Given the description of an element on the screen output the (x, y) to click on. 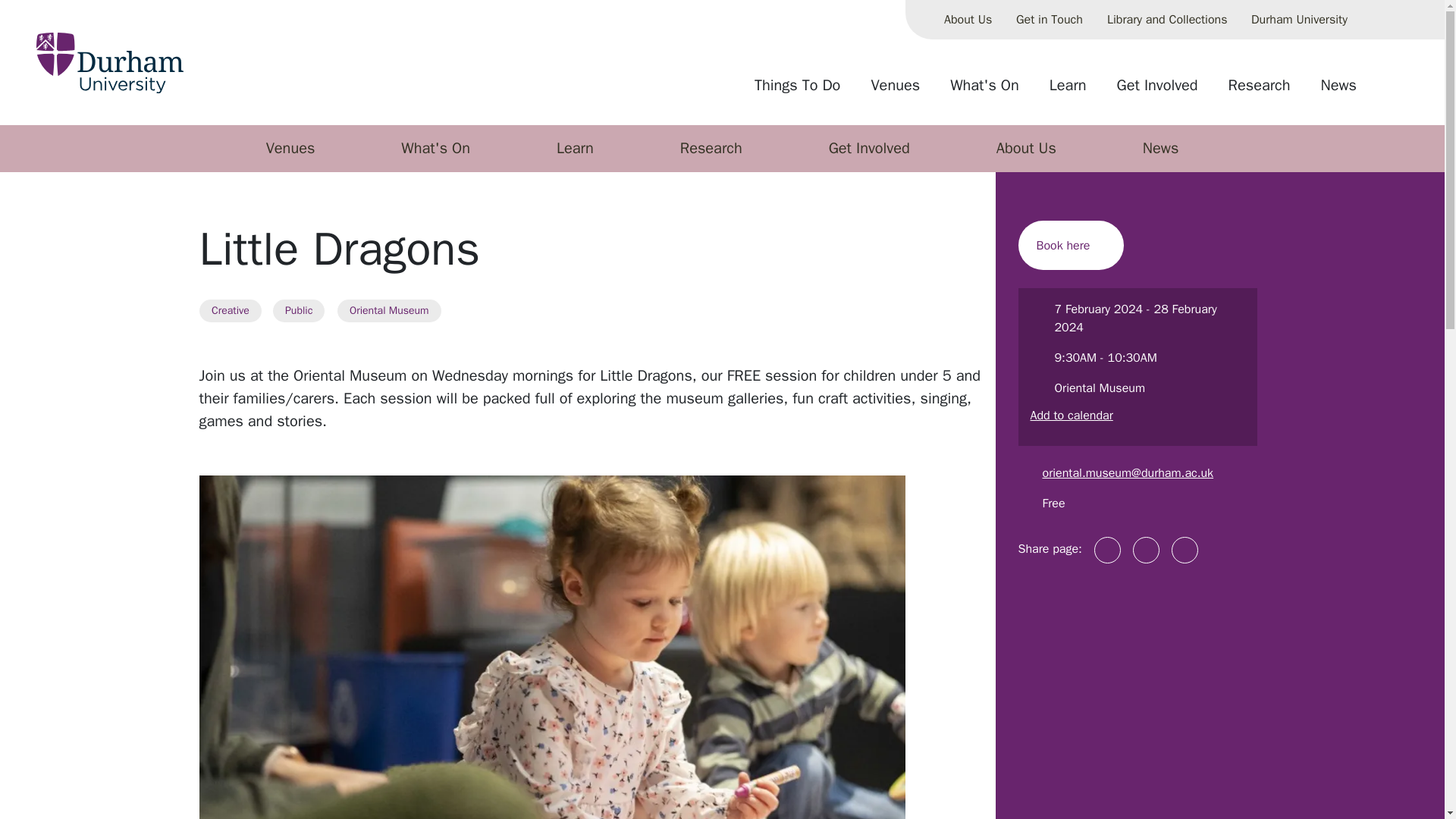
Durham University (1299, 19)
Get Involved (1157, 91)
Learn (1067, 91)
Things To Do (796, 91)
What's On (983, 91)
News (1337, 91)
Research (1259, 91)
Venues (895, 91)
Library and Collections (1166, 19)
